Given the description of an element on the screen output the (x, y) to click on. 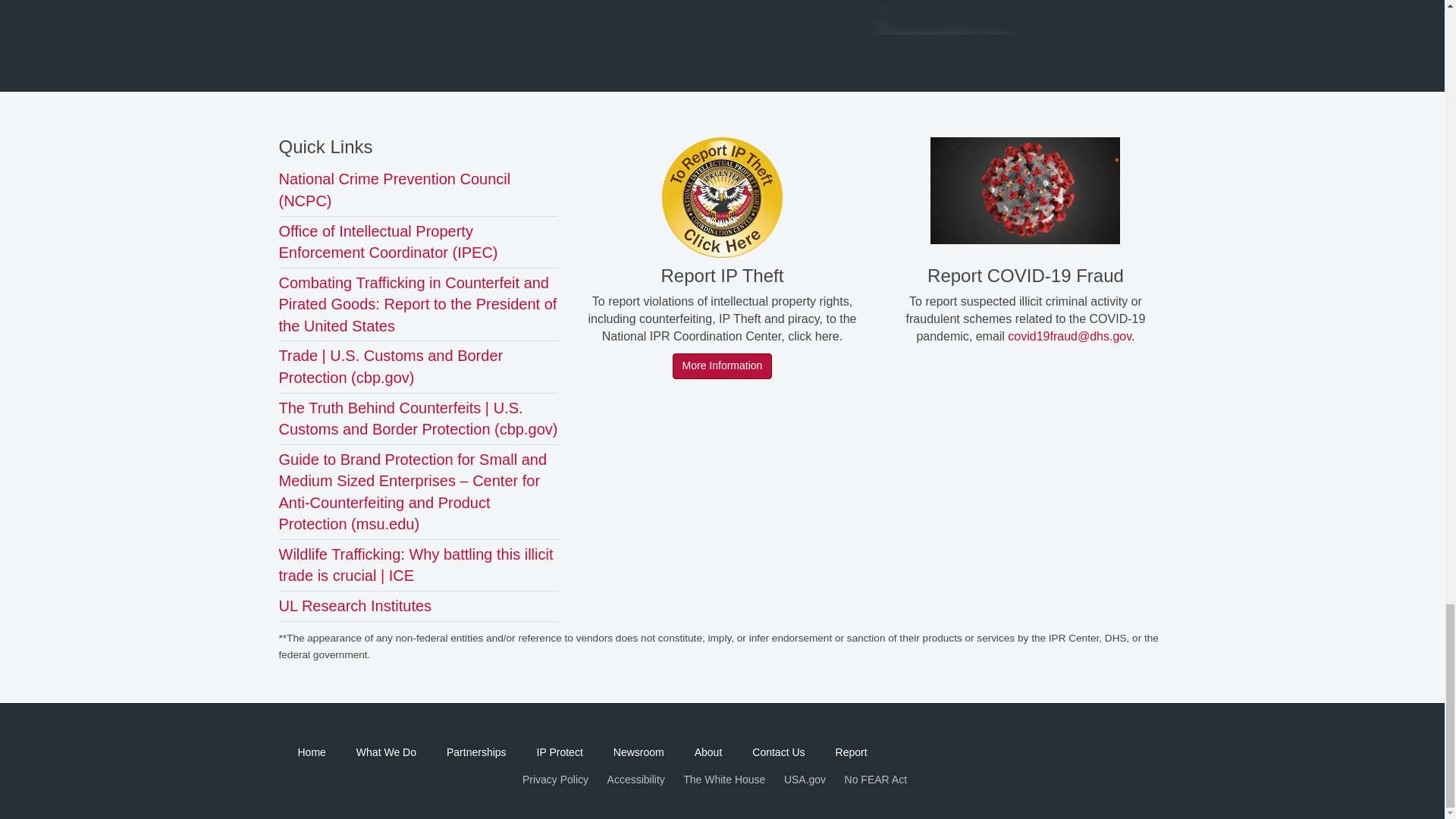
Report IP Theft (722, 197)
UL Research Institutes (355, 605)
